Given the description of an element on the screen output the (x, y) to click on. 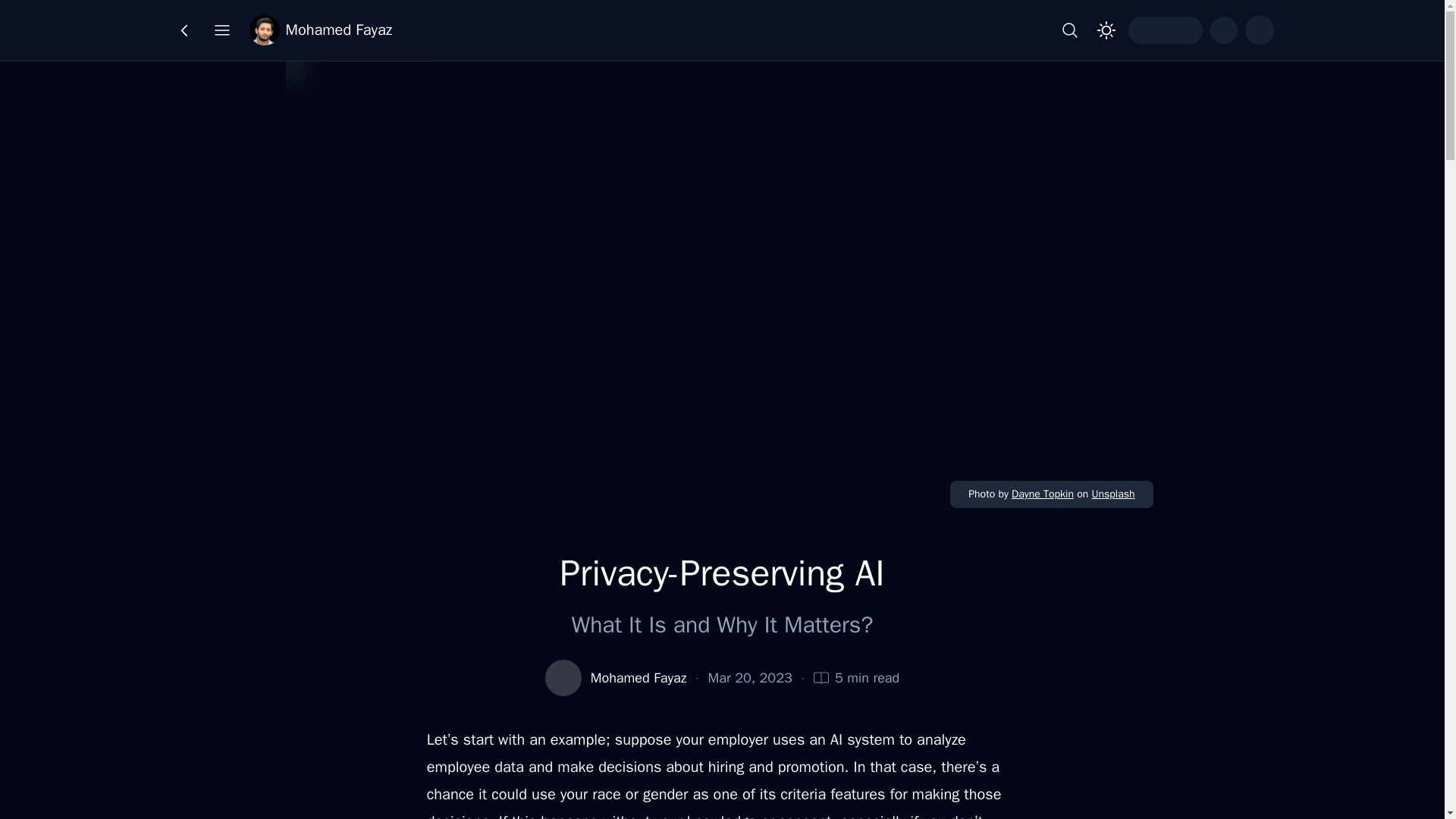
Dayne Topkin (1042, 493)
Unsplash (1112, 493)
Mohamed Fayaz (319, 30)
Mohamed Fayaz (639, 677)
Mar 20, 2023 (749, 677)
